Given the description of an element on the screen output the (x, y) to click on. 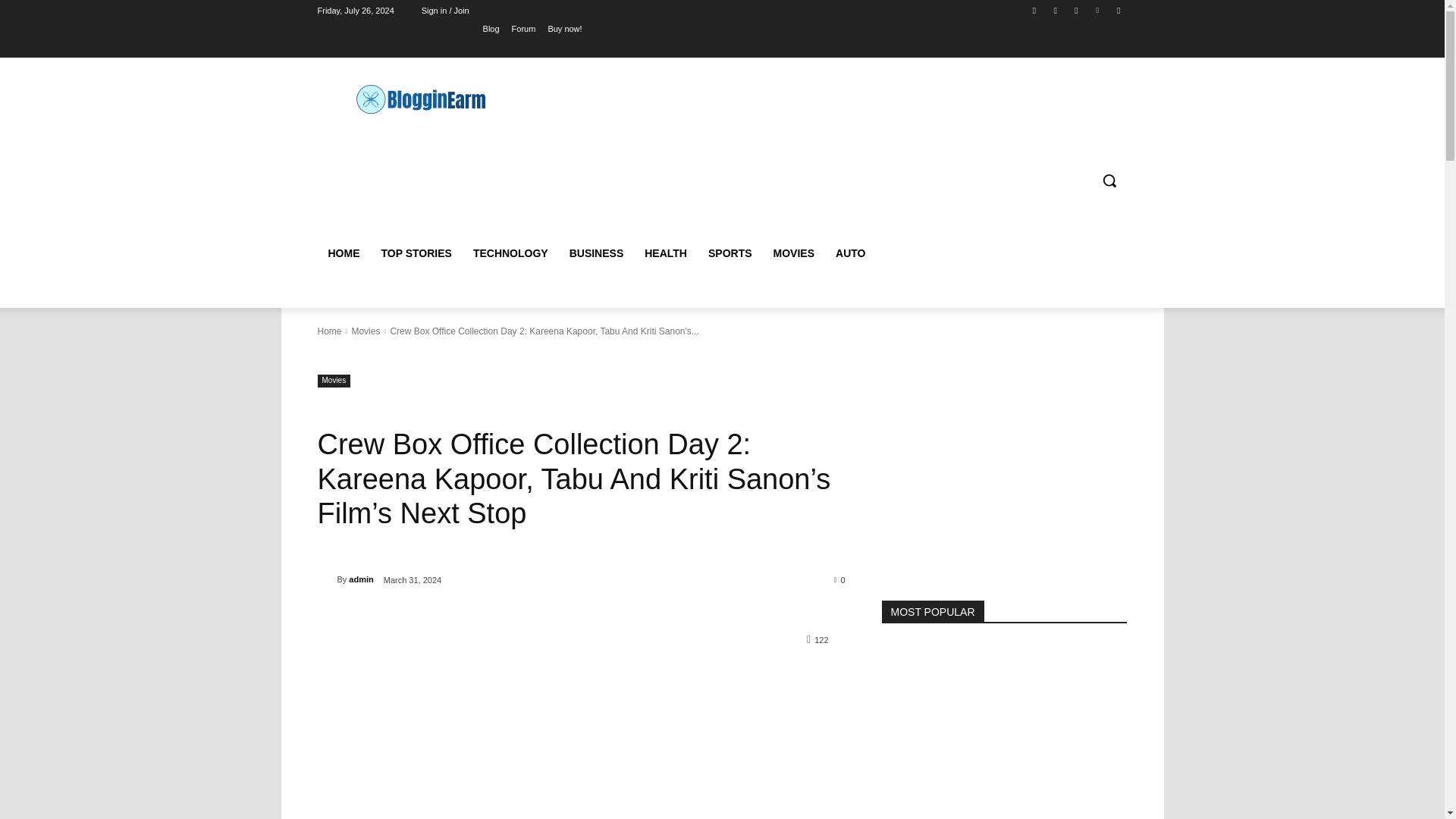
HEALTH (665, 253)
Vimeo (1097, 9)
Movies (365, 330)
TOP STORIES (415, 253)
Instagram (1055, 9)
BUSINESS (596, 253)
Movies (333, 380)
View all posts in Movies (365, 330)
admin (360, 579)
AUTO (850, 253)
Twitter (1075, 9)
Facebook (1034, 9)
SPORTS (729, 253)
